Given the description of an element on the screen output the (x, y) to click on. 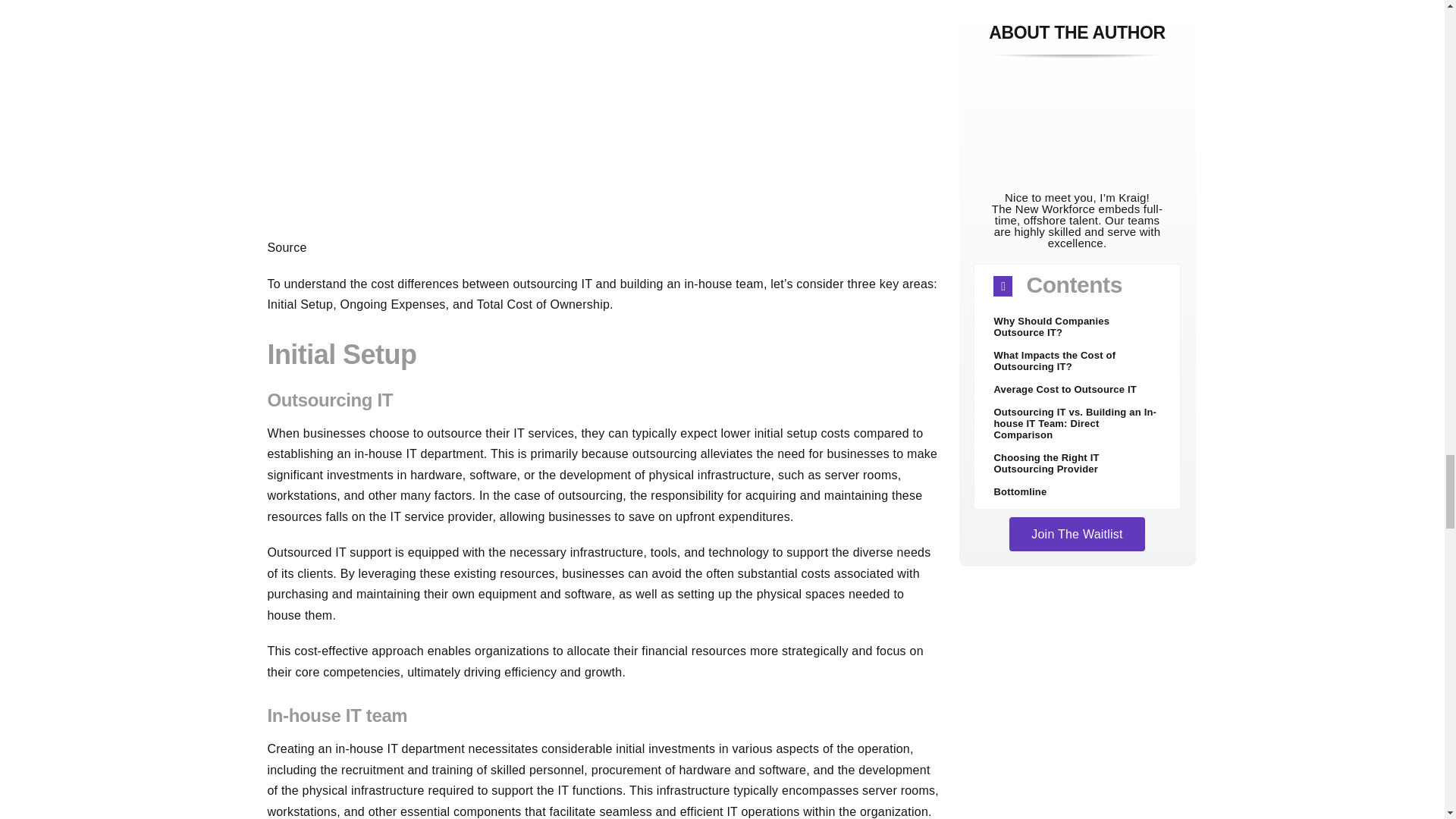
Source (285, 246)
